Given the description of an element on the screen output the (x, y) to click on. 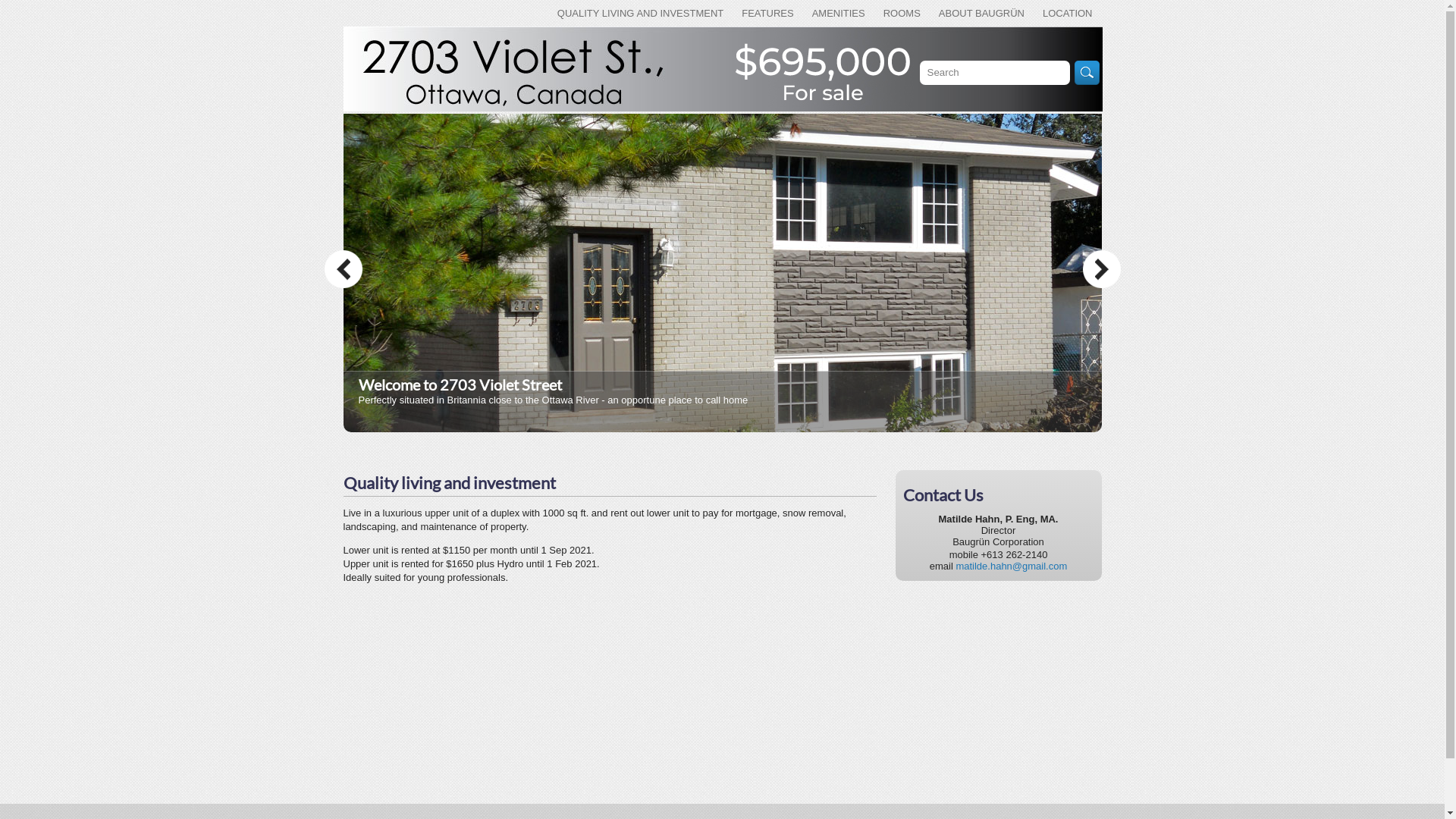
AMENITIES Element type: text (838, 13)
Welcome to 2703 Violet Street Element type: text (459, 384)
ROOMS Element type: text (901, 13)
FEATURES Element type: text (767, 13)
QUALITY LIVING AND INVESTMENT Element type: text (640, 13)
matilde.hahn@gmail.com Element type: text (1010, 565)
  Element type: text (343, 600)
2703 Violet Street, Ottawa, Ontario, Canada Element type: hover (721, 68)
LOCATION Element type: text (1067, 13)
